Given the description of an element on the screen output the (x, y) to click on. 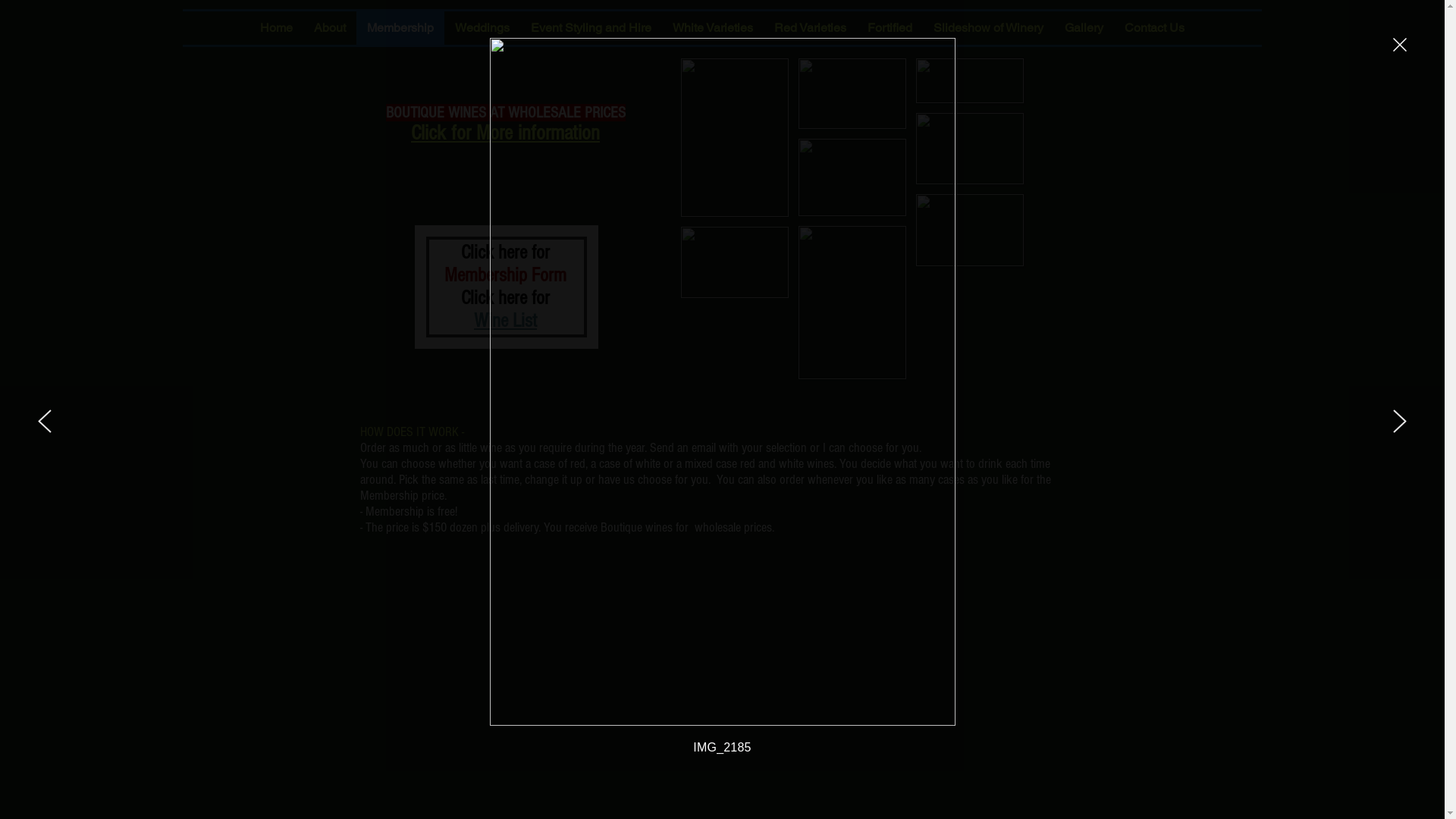
Fortified Element type: text (889, 27)
White Varieties Element type: text (711, 27)
Wine List Element type: text (504, 320)
Weddings Element type: text (482, 27)
Contact Us Element type: text (1153, 27)
About Element type: text (329, 27)
Event Styling and Hire Element type: text (591, 27)
Slideshow of Winery Element type: text (987, 27)
Click for More information Element type: text (505, 134)
Home Element type: text (275, 27)
Red Varieties Element type: text (809, 27)
Membership Element type: text (400, 27)
Gallery Element type: text (1083, 27)
